Given the description of an element on the screen output the (x, y) to click on. 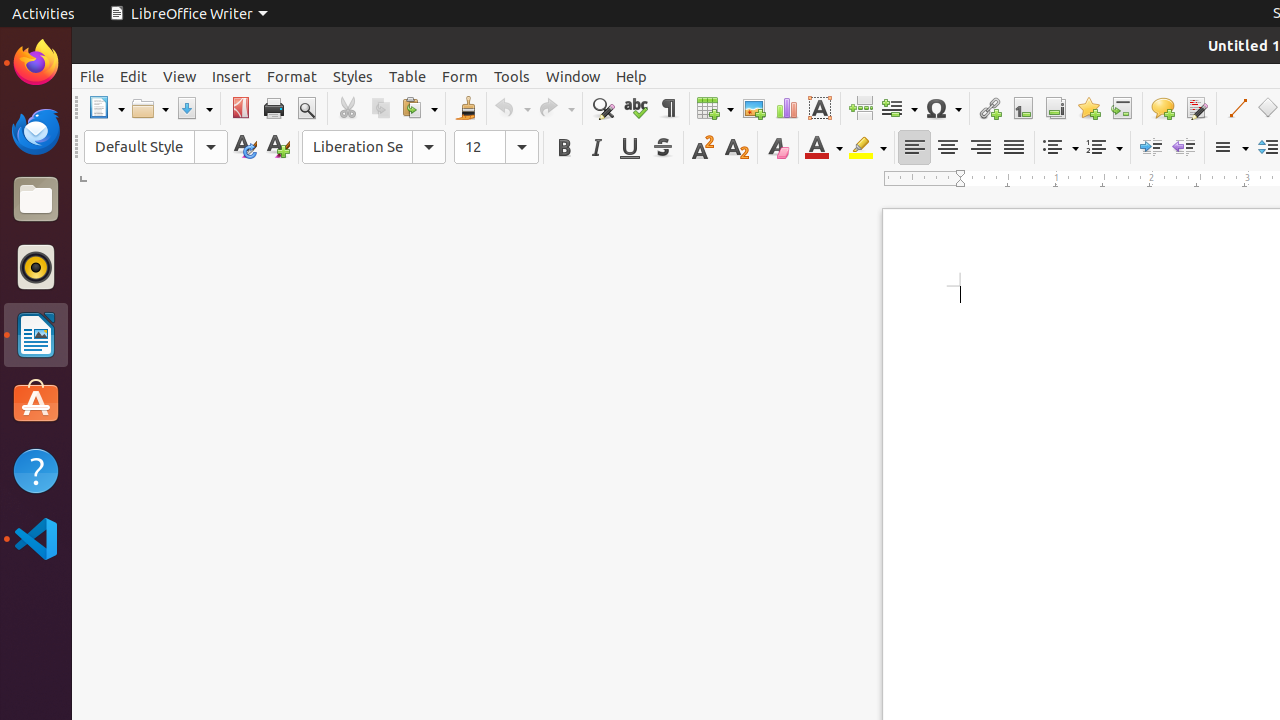
Field Element type: push-button (899, 108)
Cross-reference Element type: push-button (1121, 108)
Redo Element type: push-button (556, 108)
